Given the description of an element on the screen output the (x, y) to click on. 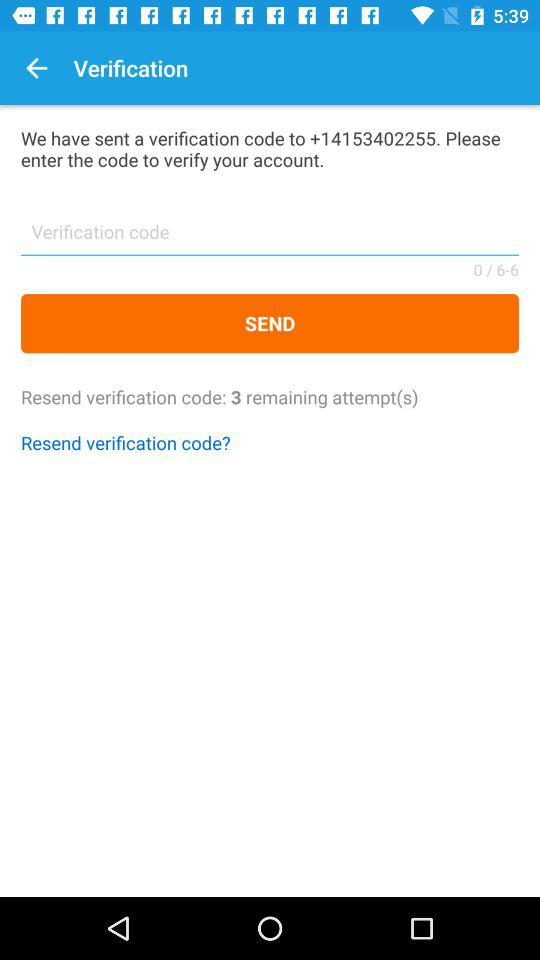
choose icon above send icon (270, 238)
